Given the description of an element on the screen output the (x, y) to click on. 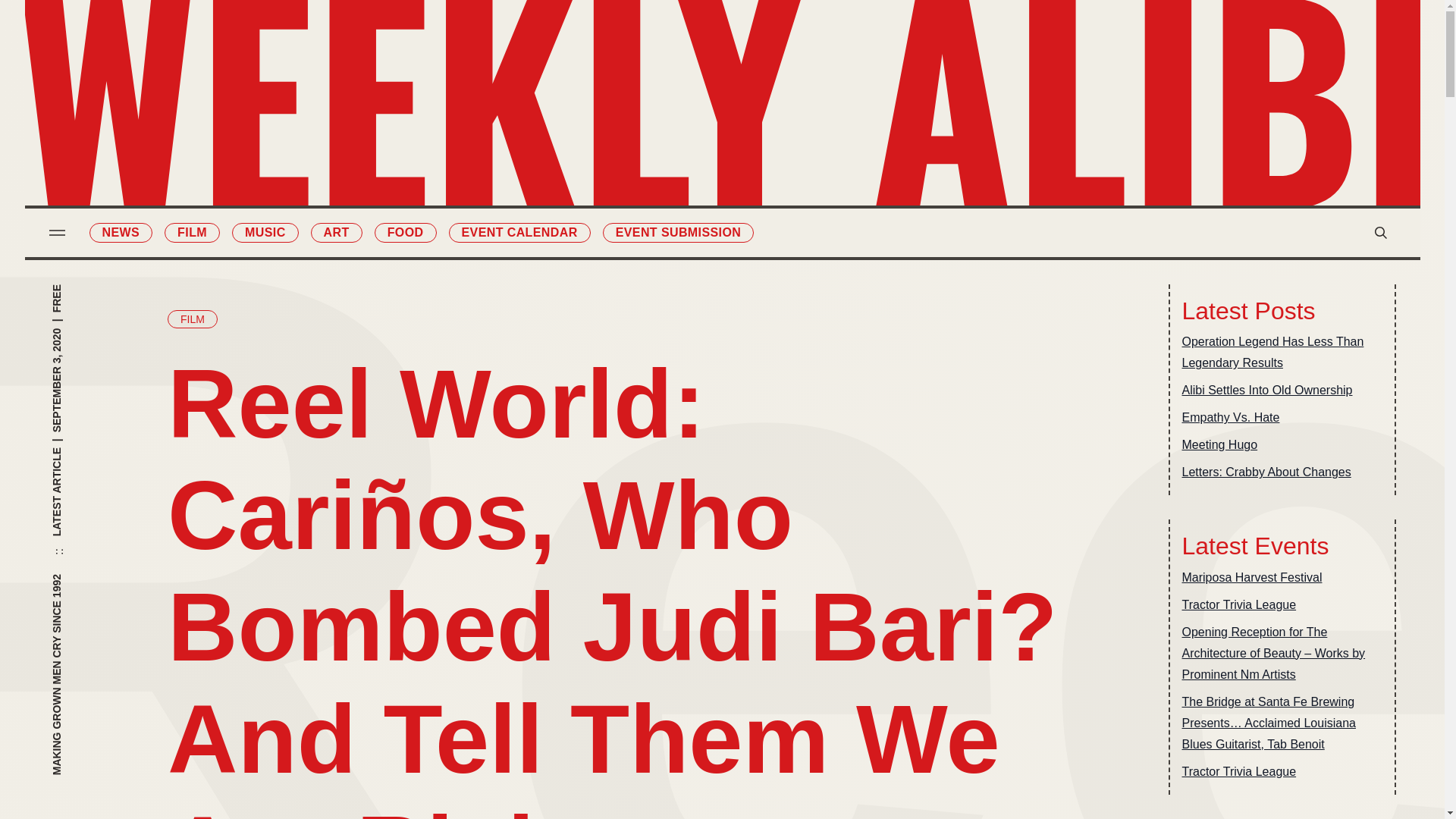
BUSINESS (803, 115)
BOOK REVIEWS (803, 83)
ART (640, 147)
EVENT CALENDAR (519, 232)
ART (336, 232)
MOVIE REVIEWS (803, 51)
CANNABIS (640, 210)
FILM (191, 319)
MUSIC (264, 232)
EVENT SUBMISSION (803, 178)
MUSIC (640, 115)
EVENTS (803, 147)
NEWS (640, 51)
NEWS (120, 232)
FOOD (405, 232)
